Given the description of an element on the screen output the (x, y) to click on. 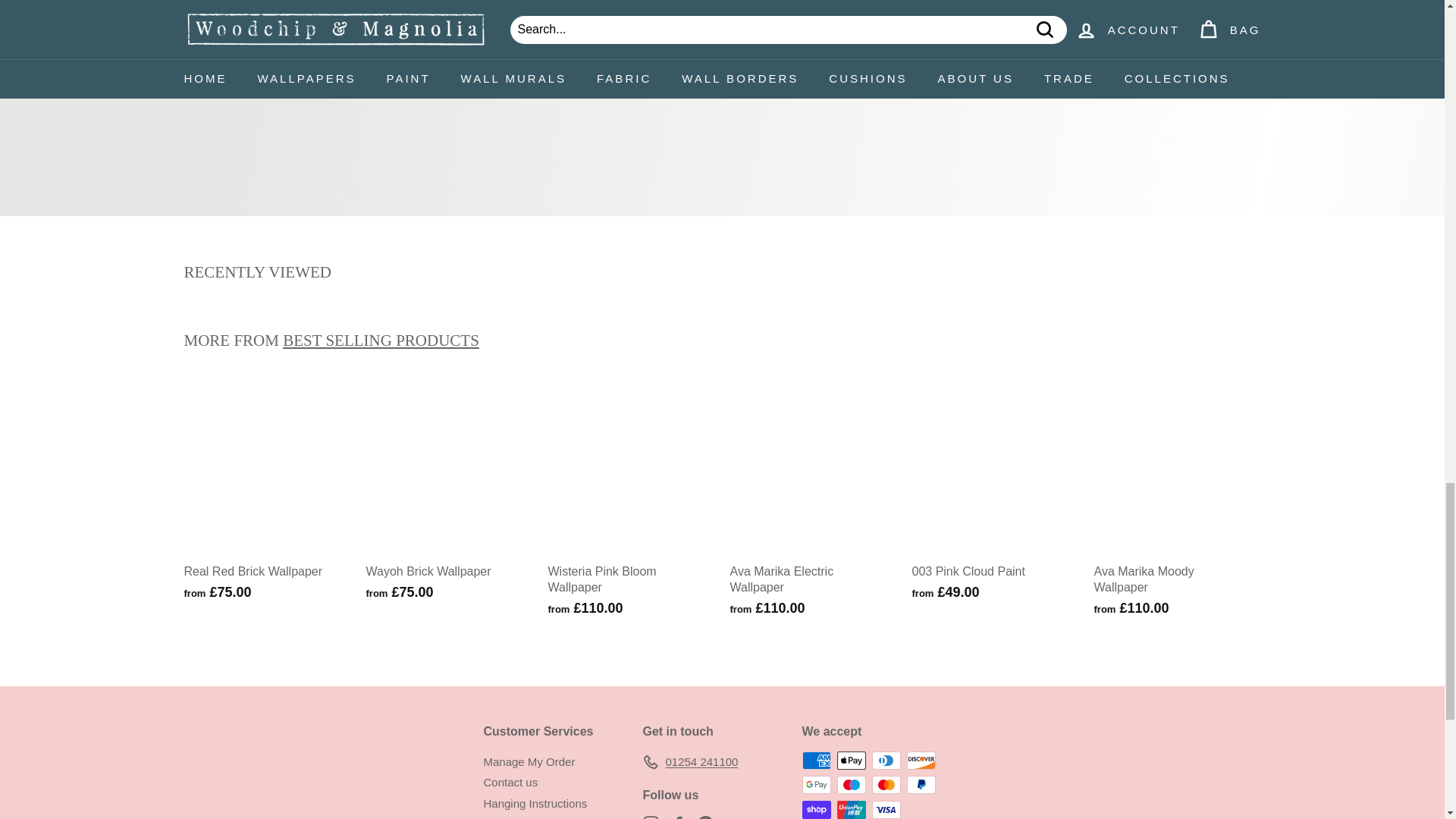
Diners Club (886, 760)
Apple Pay (851, 760)
American Express (816, 760)
